Given the description of an element on the screen output the (x, y) to click on. 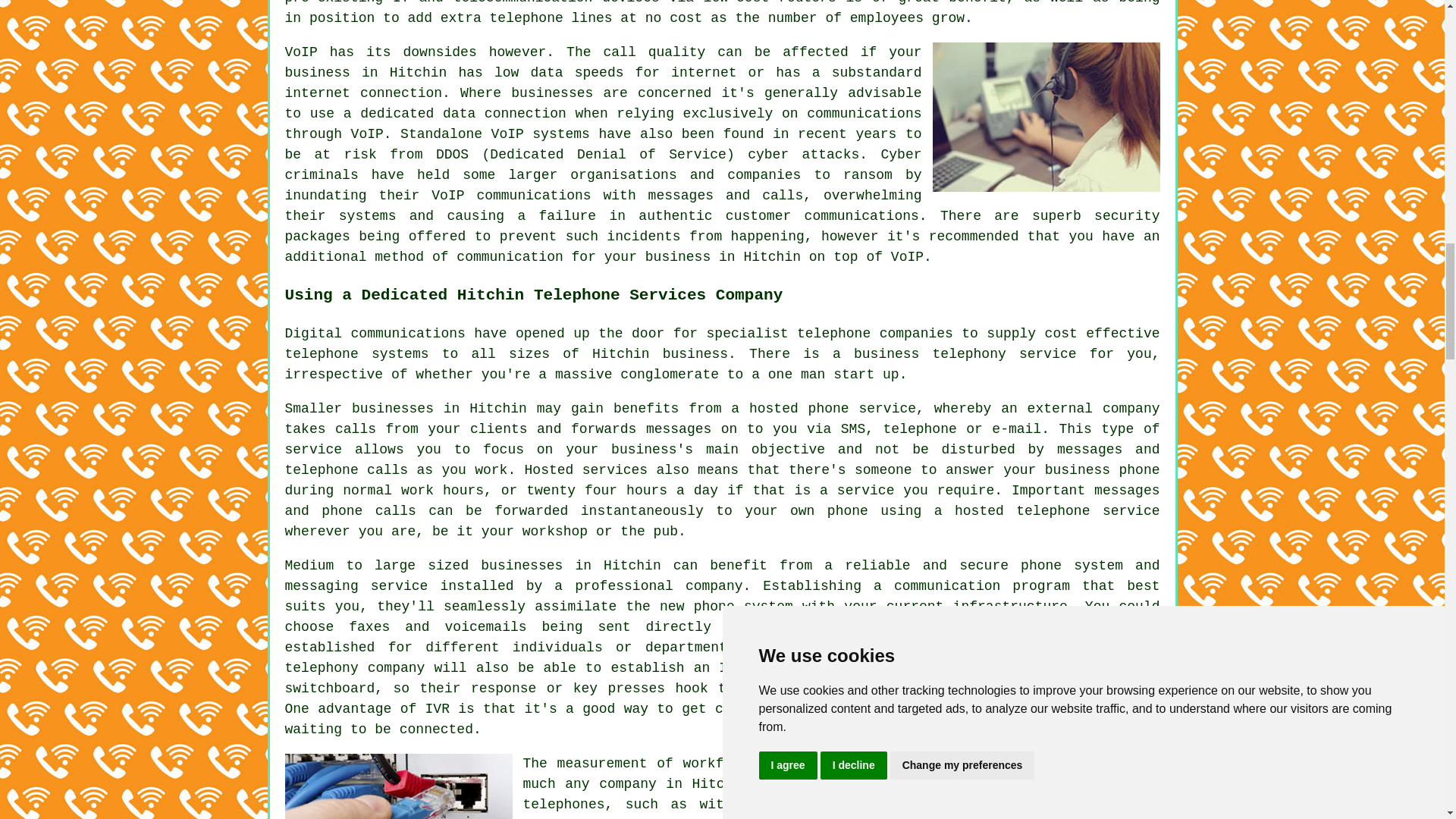
VoIP communications (510, 195)
a dedicated data connection (454, 113)
IT and telecommunication (492, 2)
Business Telephone Systems Near Hitchin Hertfordshire (1046, 116)
